Given the description of an element on the screen output the (x, y) to click on. 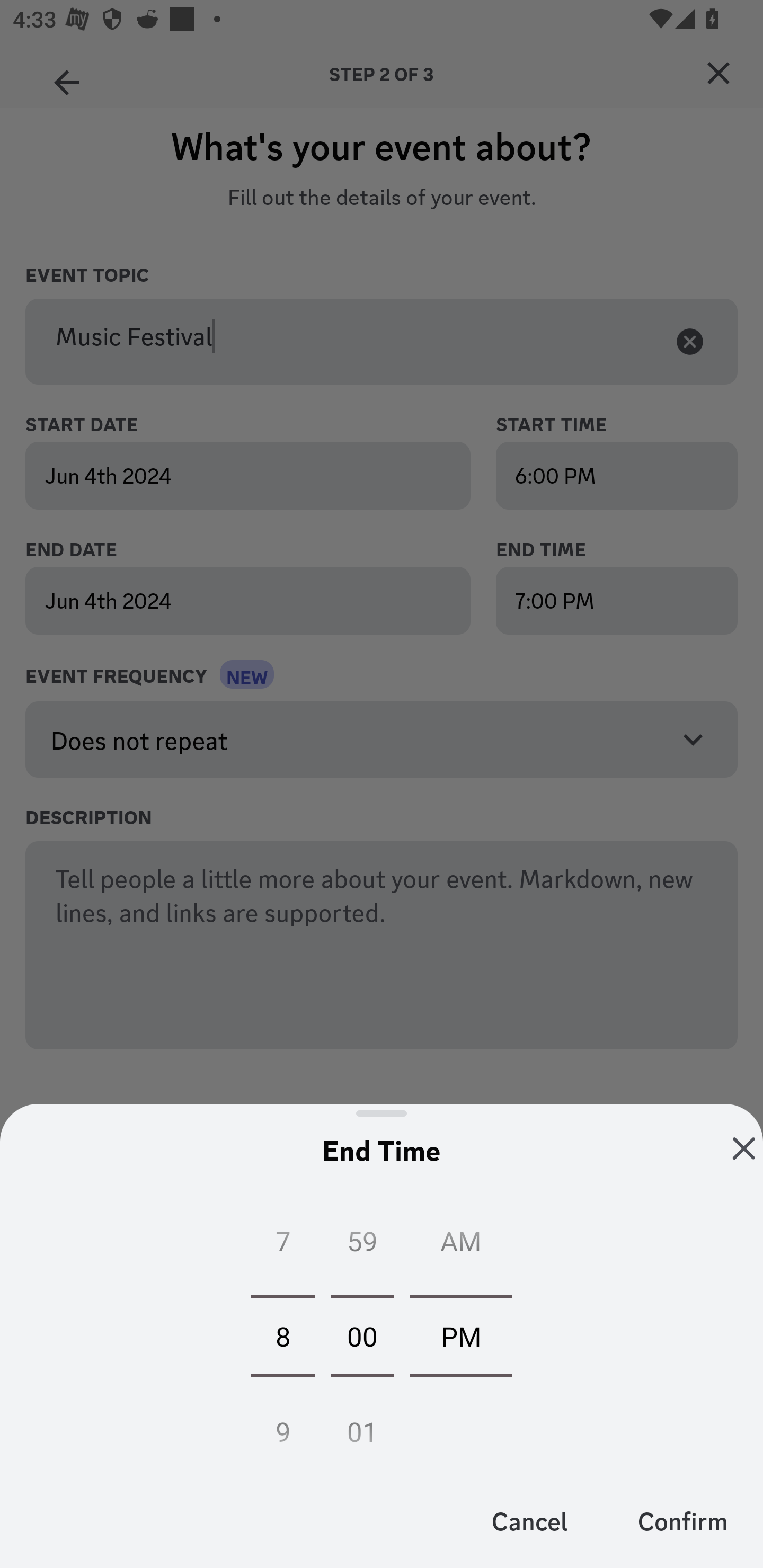
Close (743, 1148)
 7  (282, 1245)
59 (362, 1245)
 AM  (460, 1245)
 8  (282, 1335)
00 (362, 1335)
 PM  (460, 1335)
 9  (282, 1425)
01 (362, 1425)
Cancel (529, 1520)
Confirm (682, 1520)
